Given the description of an element on the screen output the (x, y) to click on. 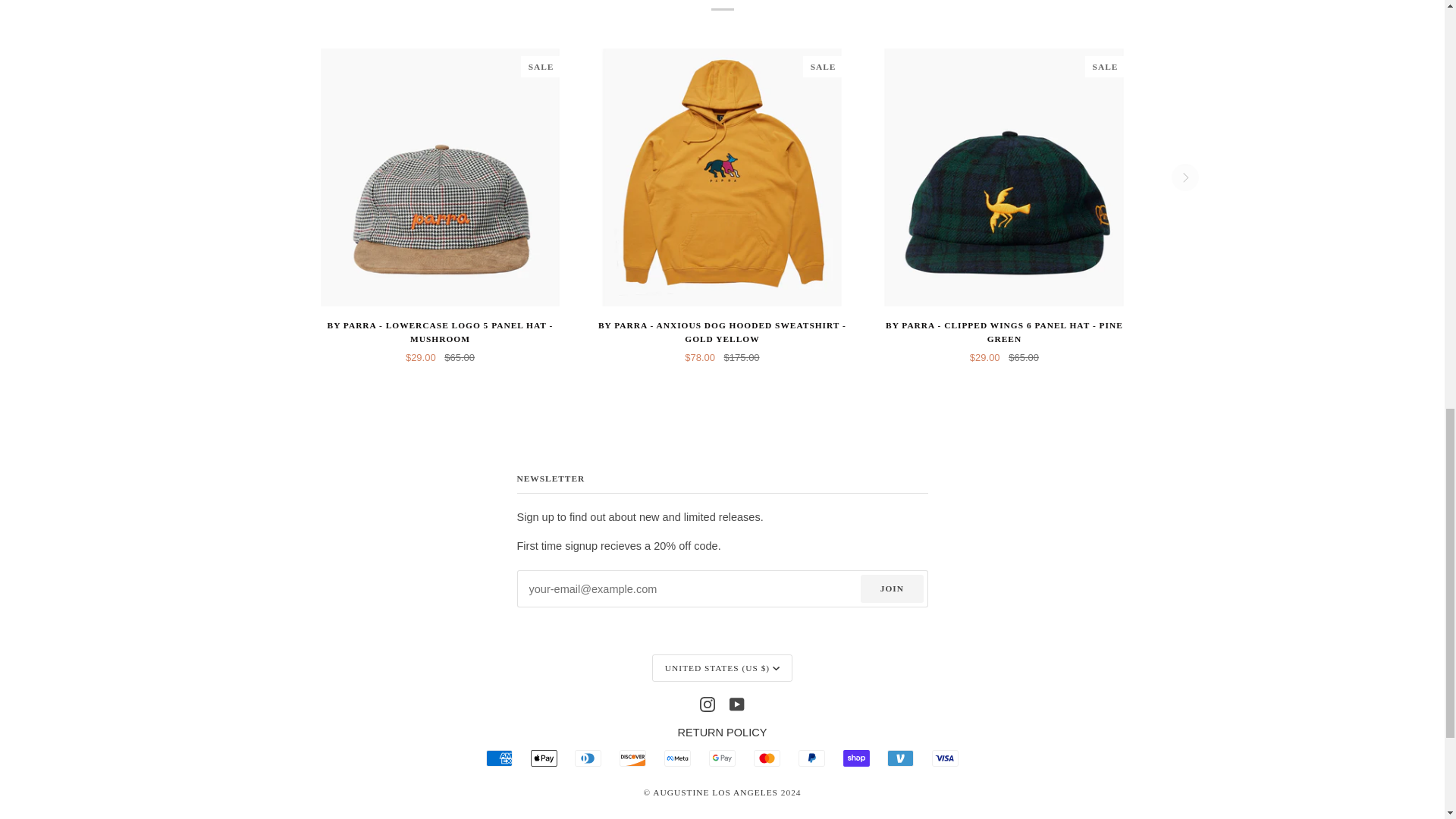
MASTERCARD (767, 758)
Instagram (707, 703)
VISA (944, 758)
DISCOVER (633, 758)
SHOP PAY (856, 758)
GOOGLE PAY (722, 758)
AMERICAN EXPRESS (499, 758)
META PAY (676, 758)
APPLE PAY (544, 758)
YouTube (736, 703)
PAYPAL (811, 758)
DINERS CLUB (588, 758)
VENMO (900, 758)
